Given the description of an element on the screen output the (x, y) to click on. 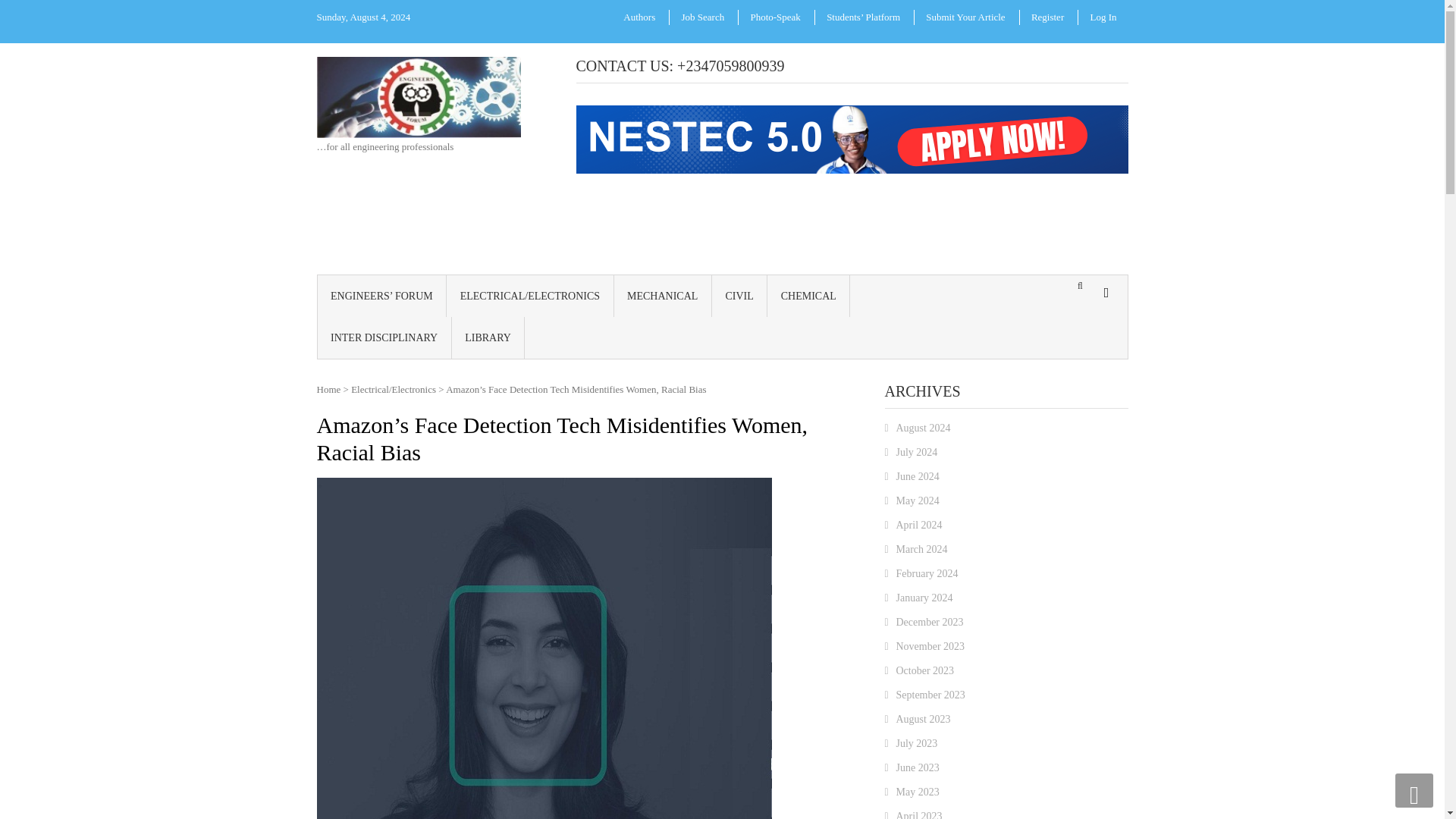
Register (1047, 16)
Job Search (702, 16)
Log In (1102, 16)
MECHANICAL (662, 295)
CHEMICAL (808, 295)
Photo-Speak (774, 16)
INTER DISCIPLINARY (384, 337)
Authors (638, 16)
CIVIL (739, 295)
Submit Your Article (965, 16)
LIBRARY (488, 337)
